Given the description of an element on the screen output the (x, y) to click on. 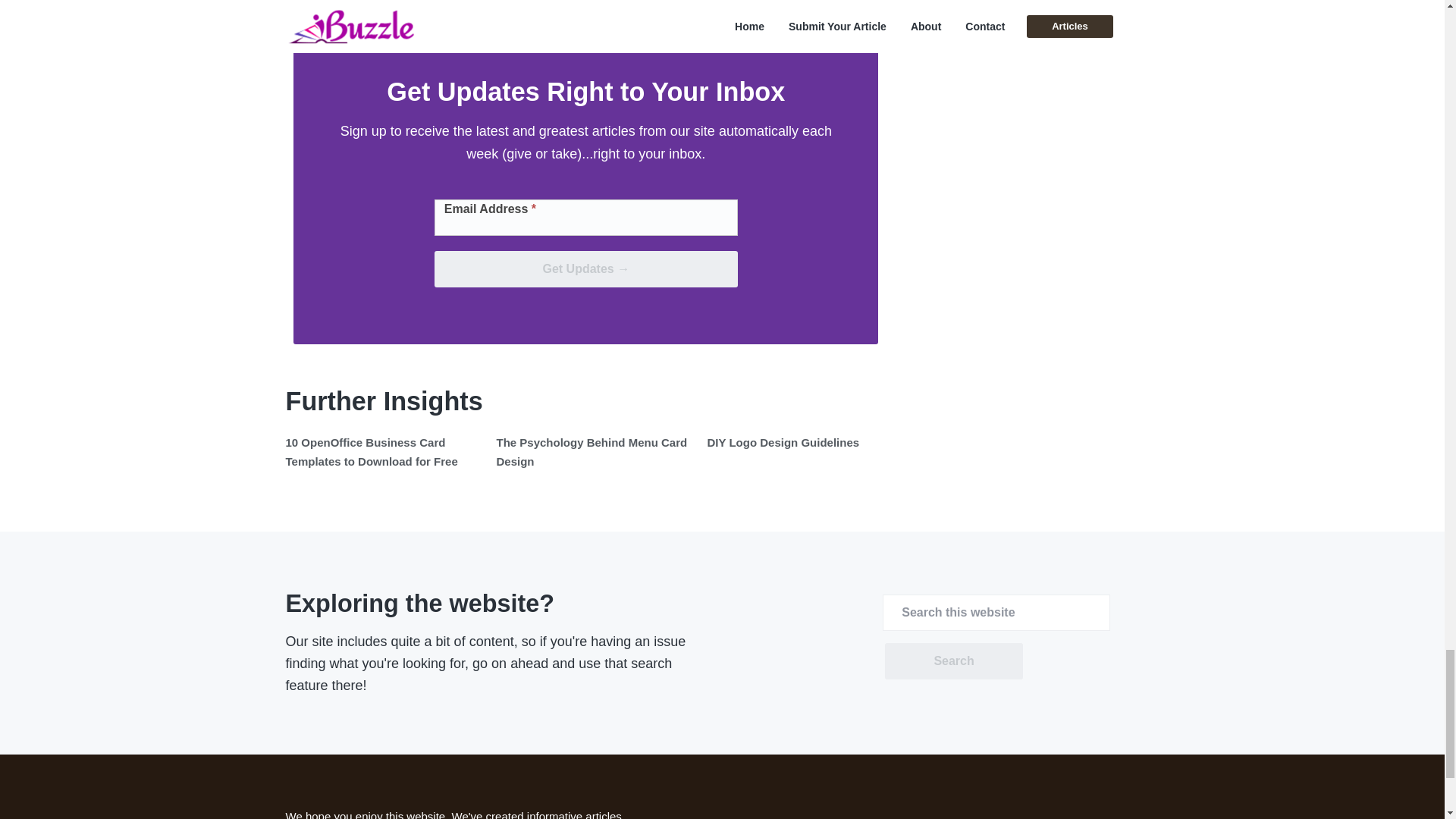
The Psychology Behind Menu Card Design (591, 450)
Search (953, 660)
Permanent Link to DIY Logo Design Guidelines (782, 441)
Search (953, 660)
DIY Logo Design Guidelines (782, 441)
10 OpenOffice Business Card Templates to Download for Free (371, 450)
Permanent Link to The Psychology Behind Menu Card Design (591, 450)
Search (953, 660)
